Given the description of an element on the screen output the (x, y) to click on. 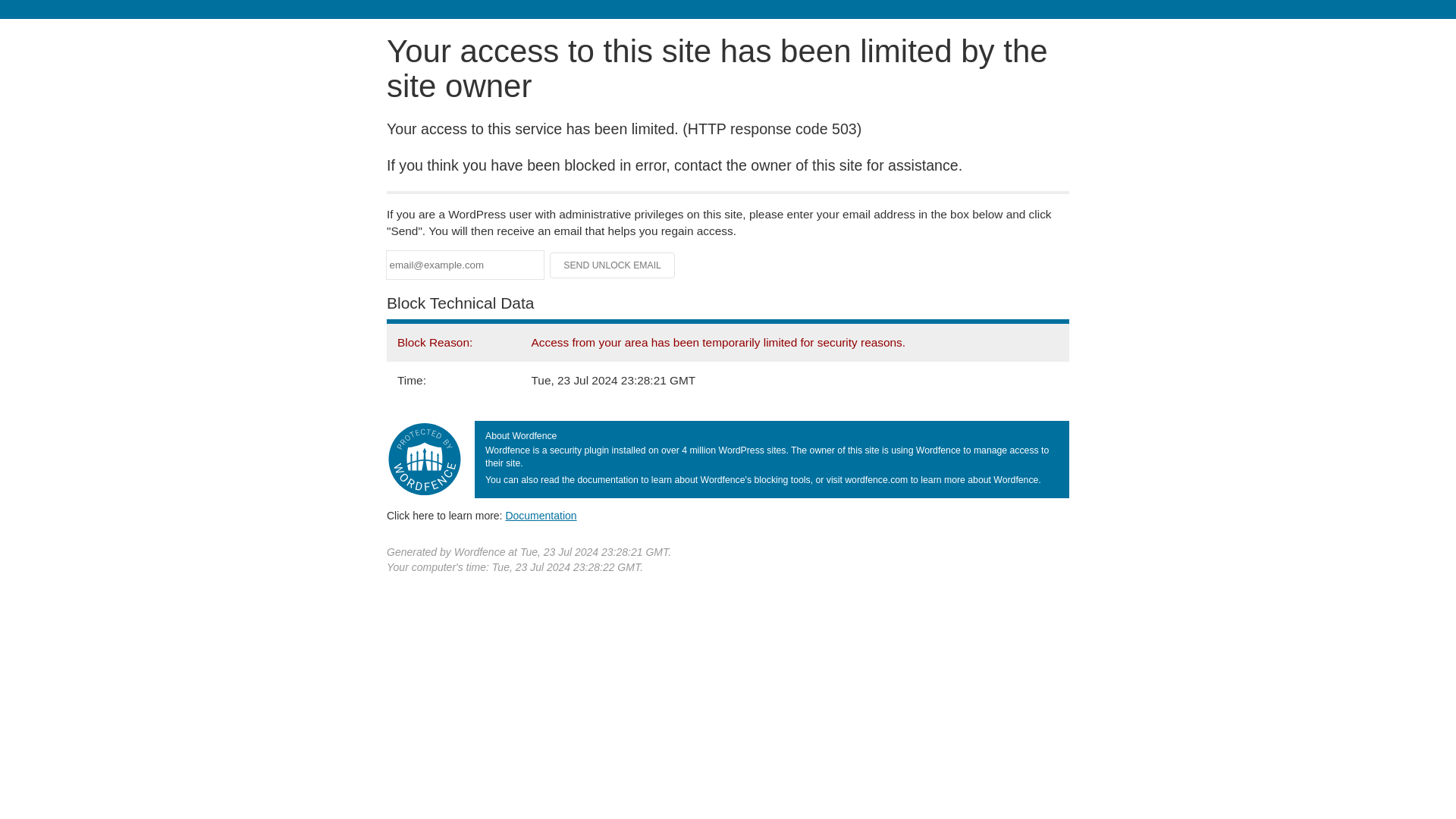
Send Unlock Email (612, 265)
Documentation (540, 515)
Send Unlock Email (612, 265)
